Given the description of an element on the screen output the (x, y) to click on. 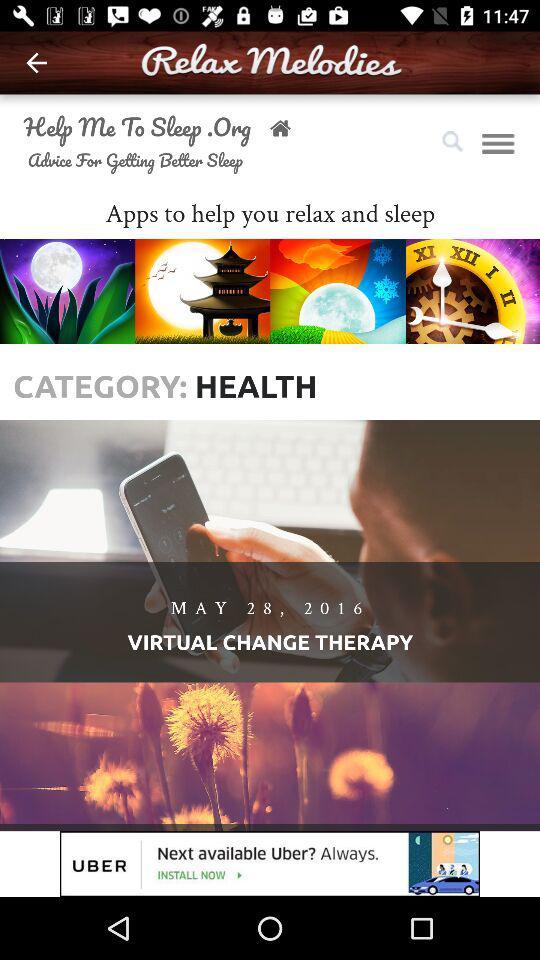
advertisement (270, 864)
